Given the description of an element on the screen output the (x, y) to click on. 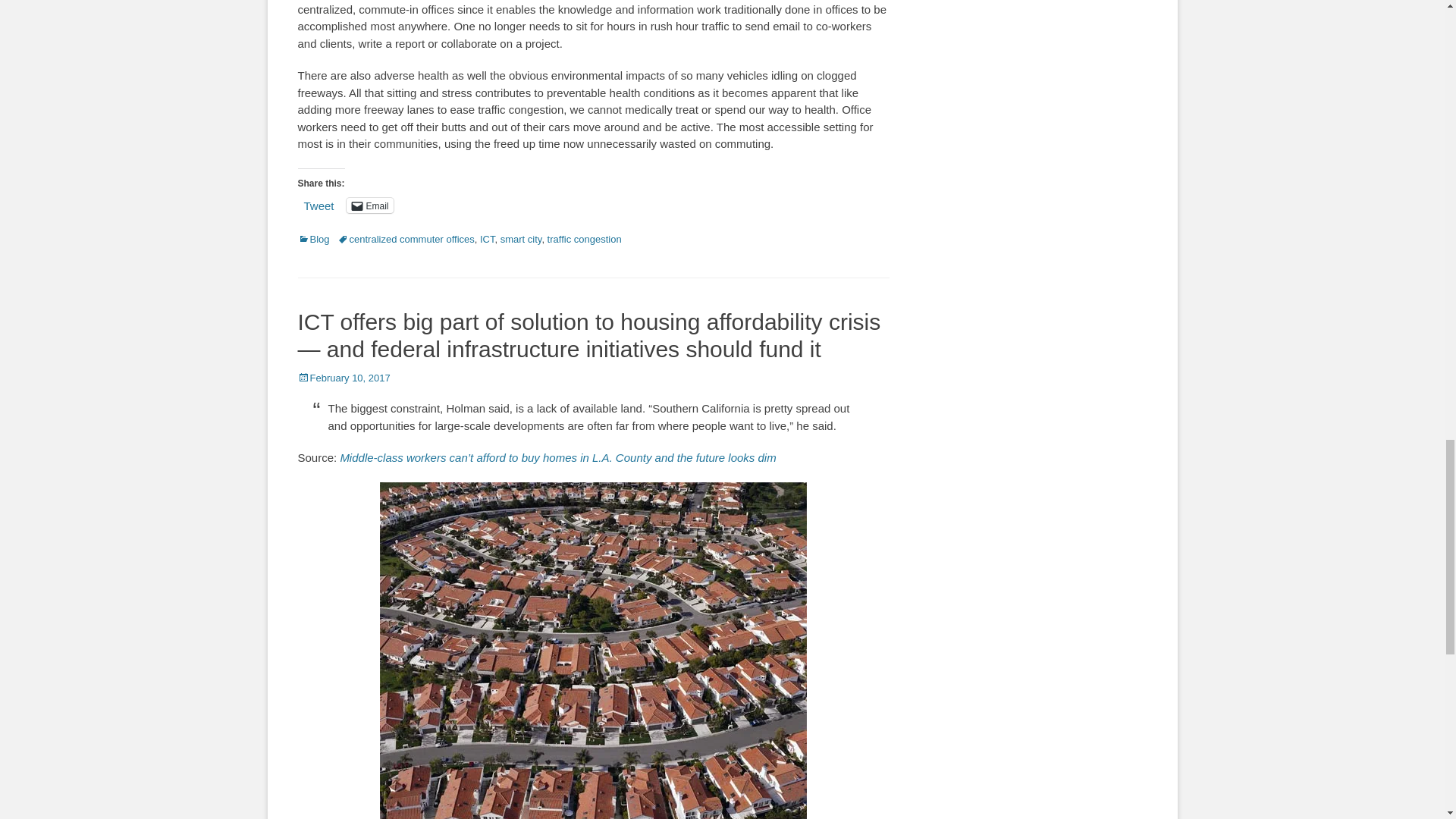
Blog (313, 238)
centralized commuter offices (405, 238)
ICT (487, 238)
Click to email a link to a friend (369, 205)
smart city (520, 238)
traffic congestion (584, 238)
Email (369, 205)
Tweet (317, 204)
